Given the description of an element on the screen output the (x, y) to click on. 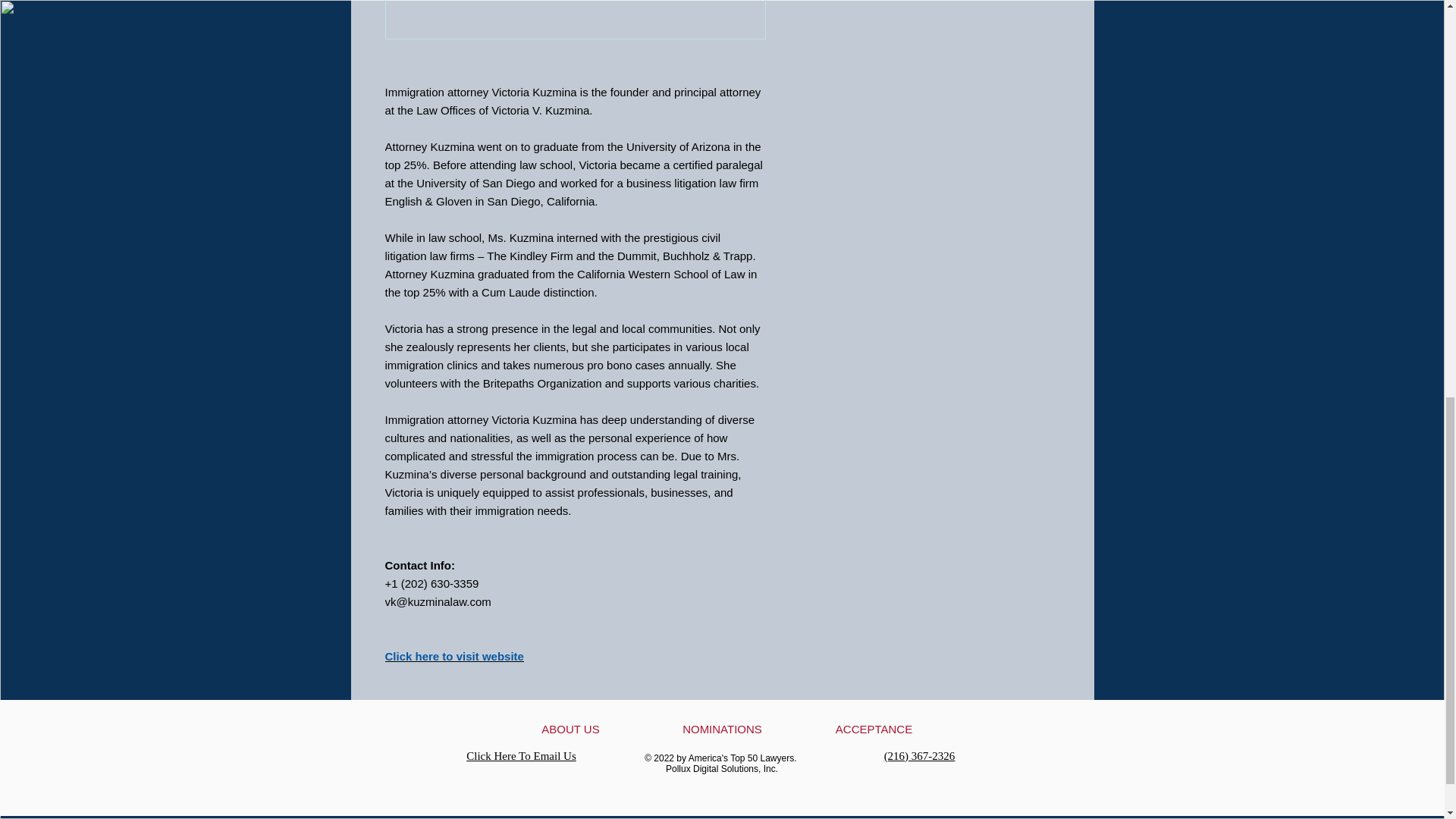
Click Here To Email Us (520, 756)
Click here to visit website (454, 656)
ABOUT US (570, 728)
ACCEPTANCE (873, 728)
NOMINATIONS (721, 728)
